Given the description of an element on the screen output the (x, y) to click on. 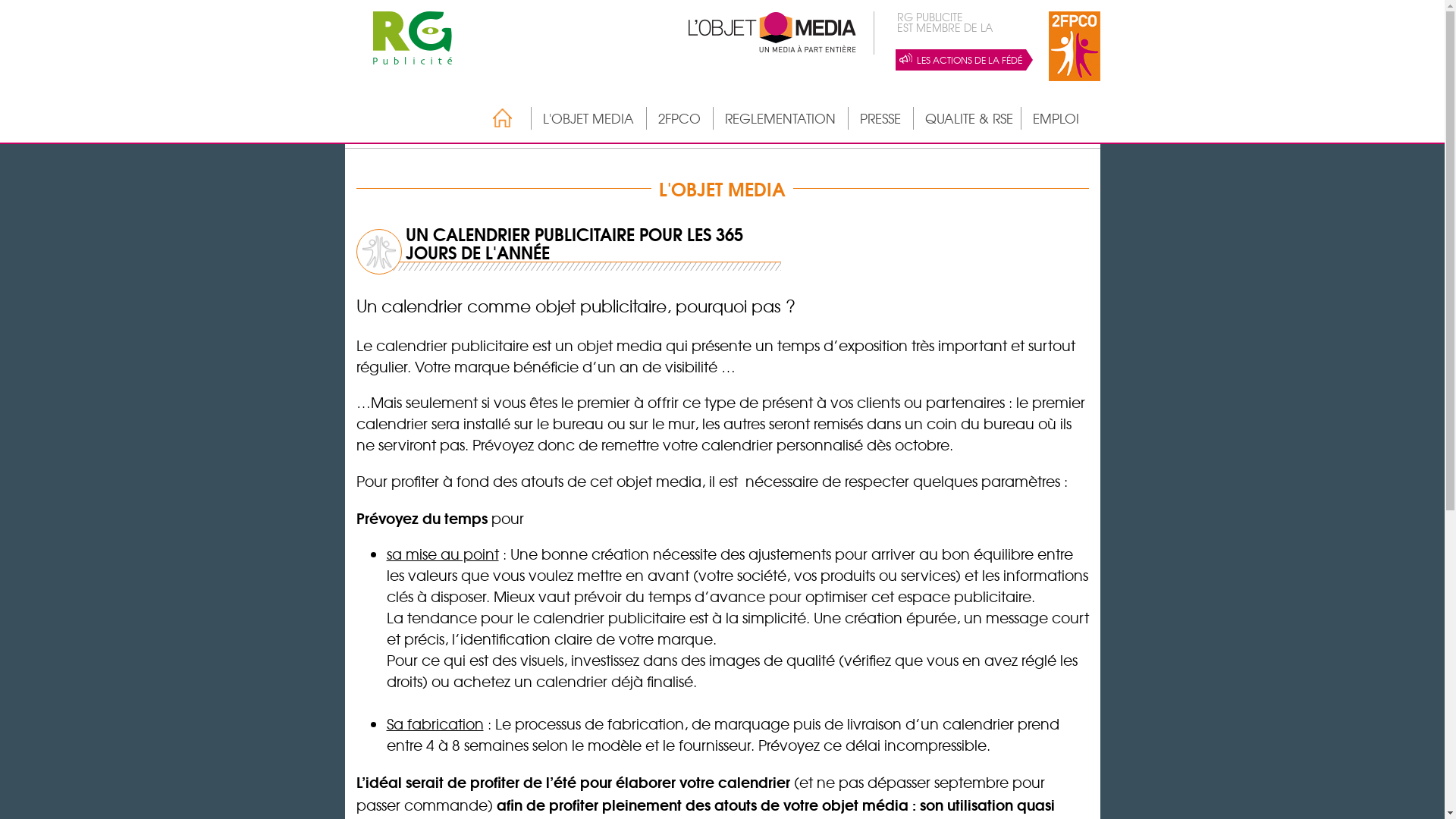
Accueil Element type: hover (494, 117)
